Given the description of an element on the screen output the (x, y) to click on. 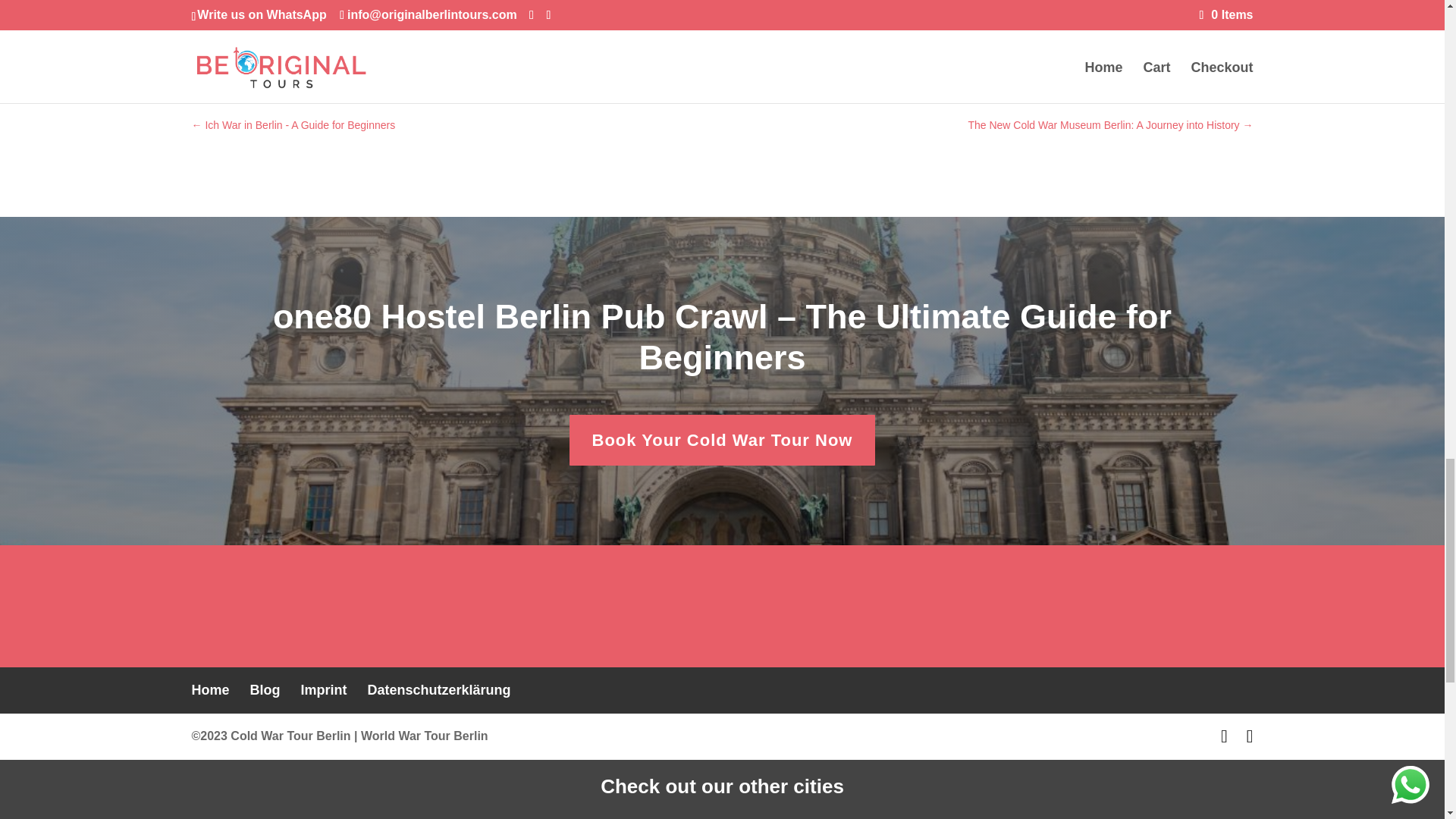
World War Tour Berlin (424, 735)
Book Your Cold War Tour Now (722, 440)
Imprint (324, 689)
Book Your Cold War Tour Now (722, 58)
Cold War Tour Berlin (290, 735)
Home (209, 689)
Blog (265, 689)
